Given the description of an element on the screen output the (x, y) to click on. 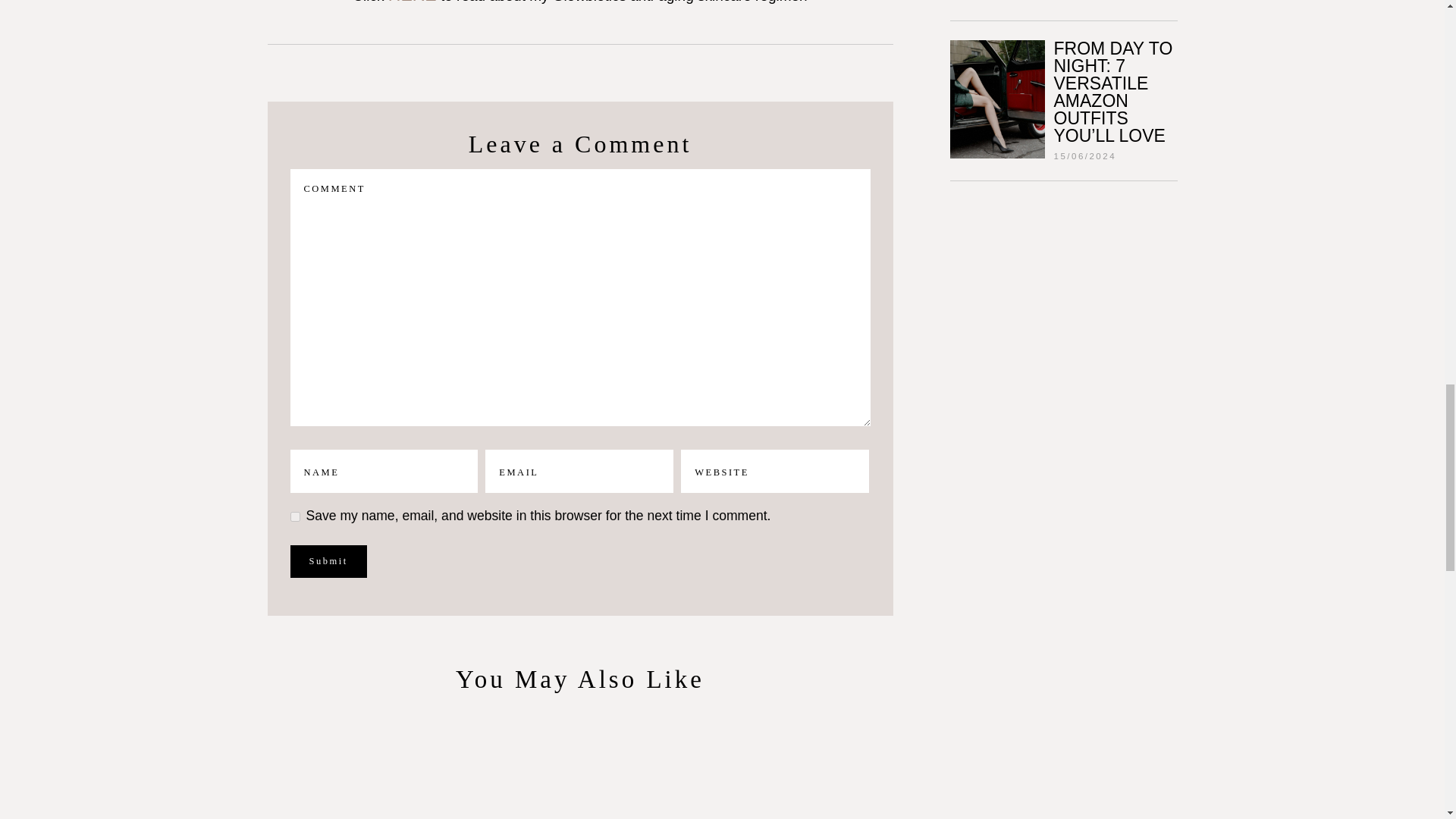
Submit (327, 561)
yes (294, 516)
HERE (412, 2)
